Given the description of an element on the screen output the (x, y) to click on. 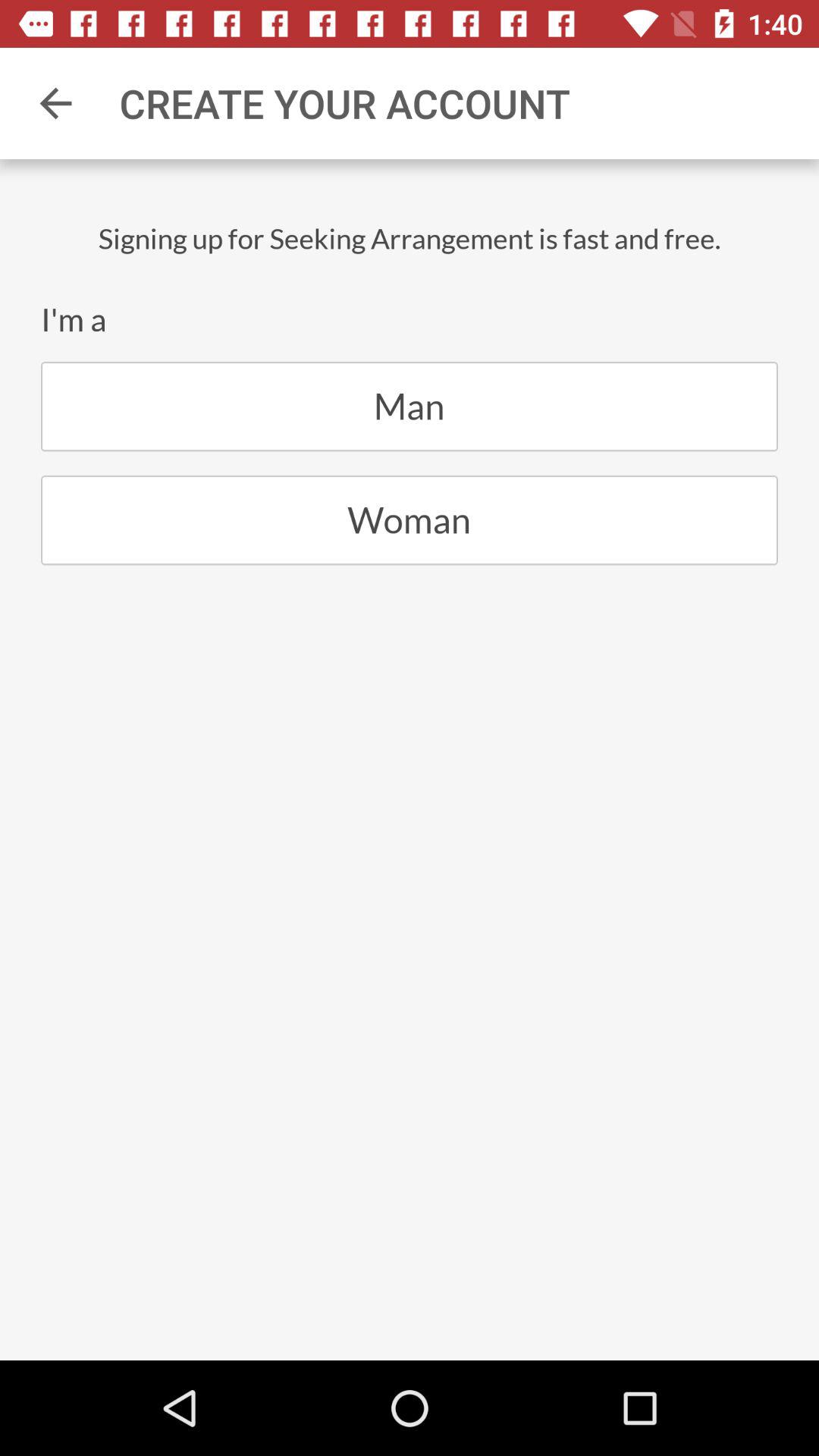
select the icon above signing up for (55, 103)
